Given the description of an element on the screen output the (x, y) to click on. 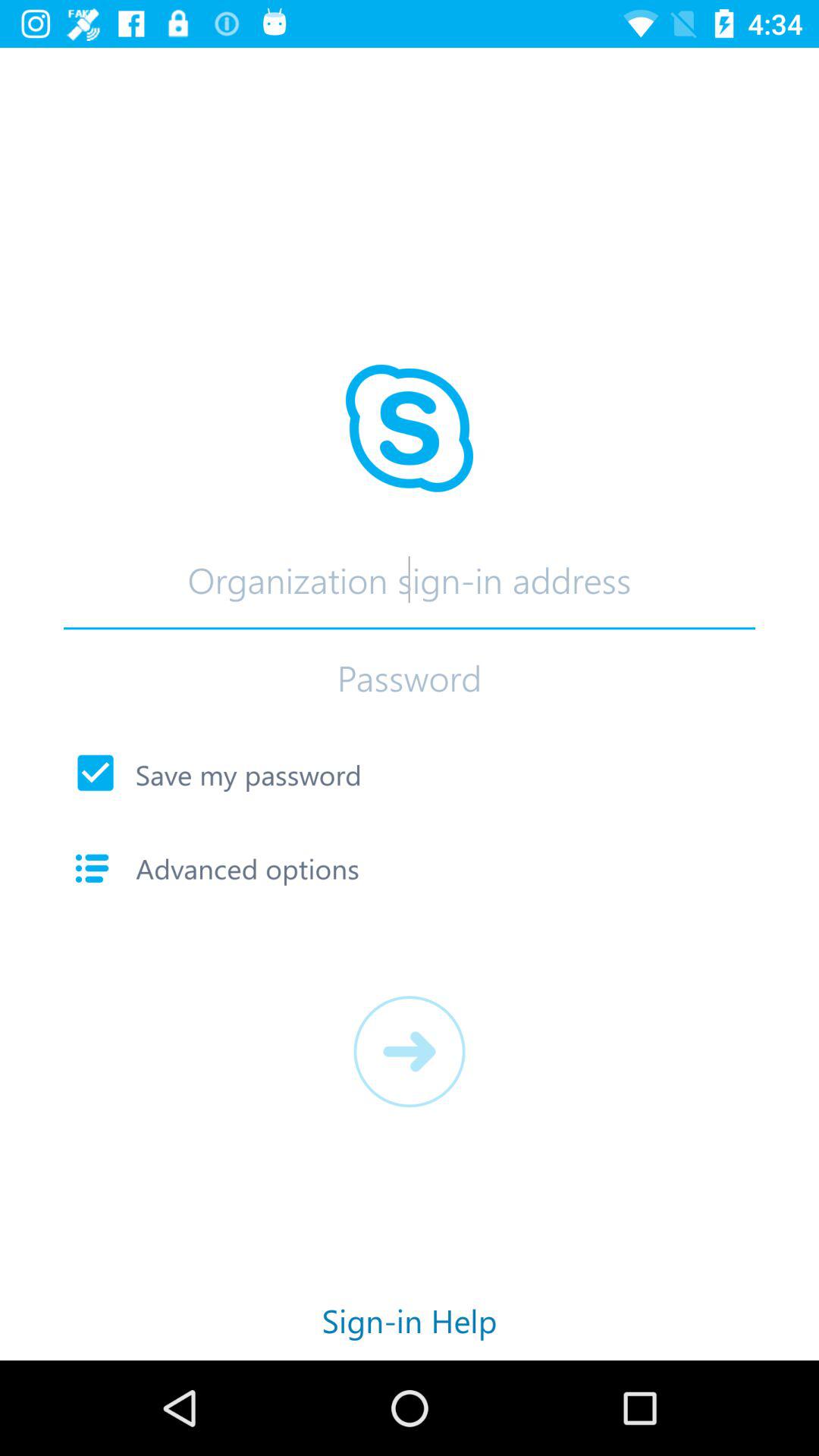
launch app below advanced options icon (409, 1051)
